Given the description of an element on the screen output the (x, y) to click on. 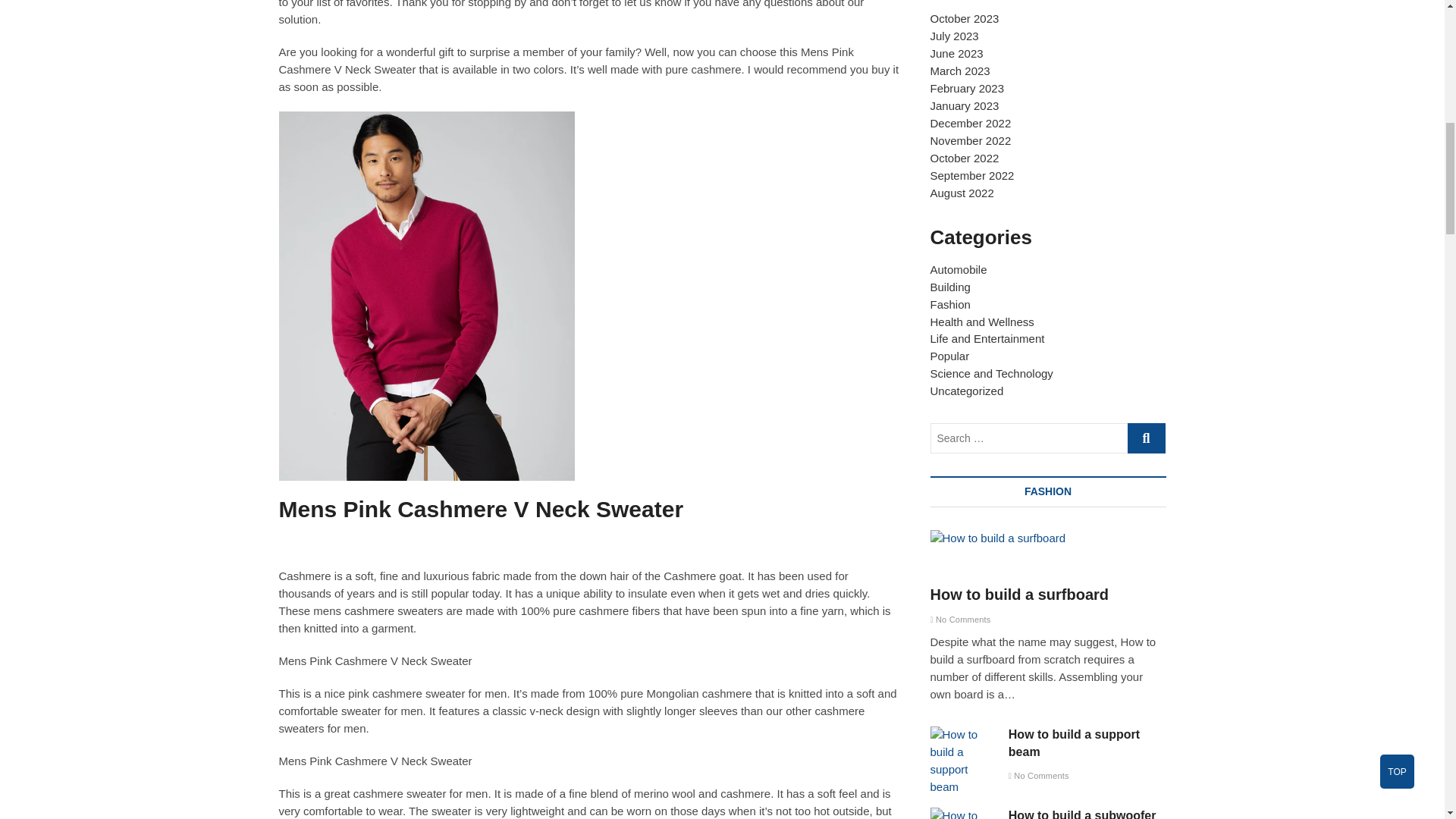
How to build a surfboard (1048, 538)
How to build a surfboard (997, 538)
How to build a surfboard (1019, 594)
